Given the description of an element on the screen output the (x, y) to click on. 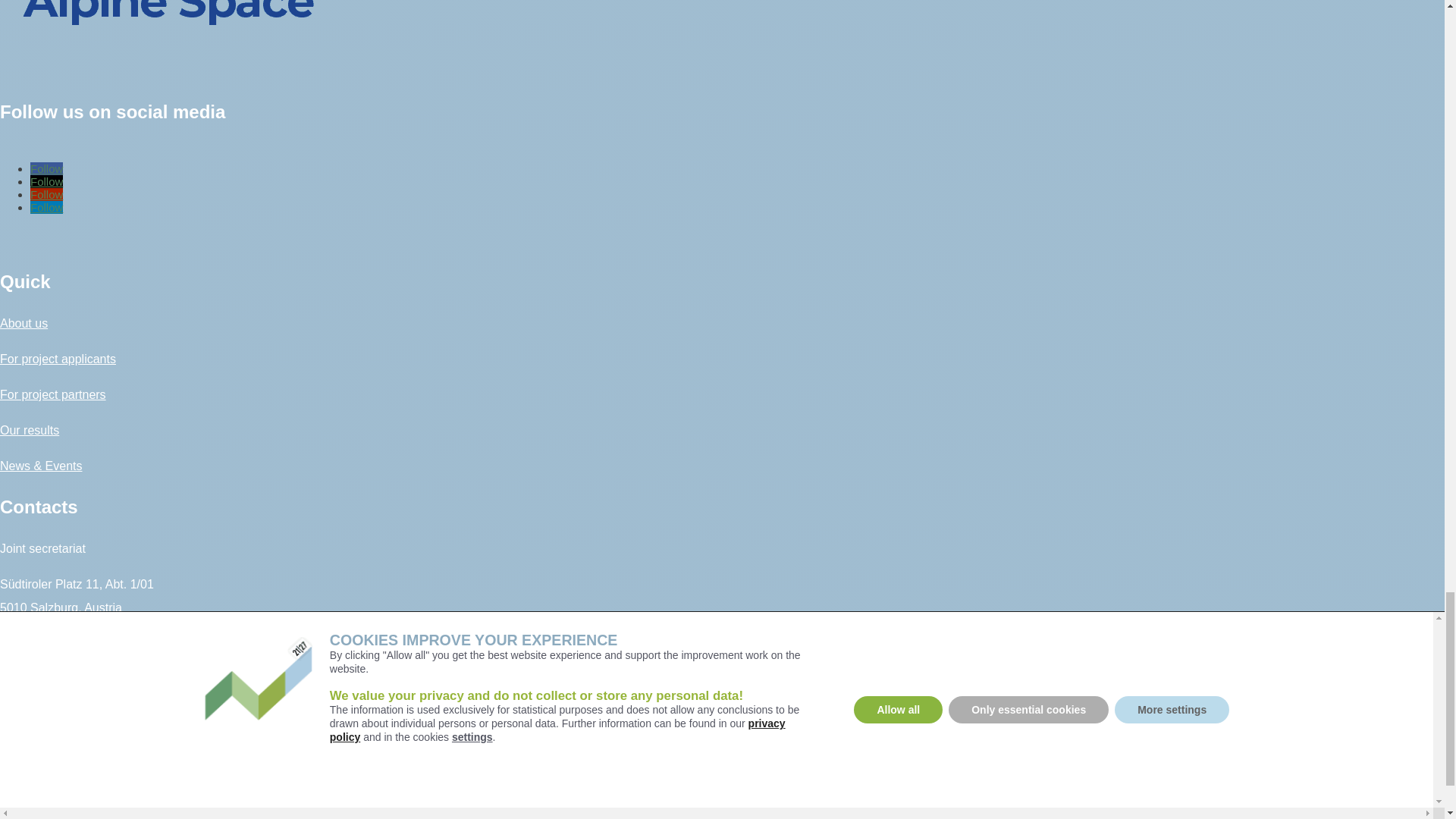
Follow on X (46, 181)
Follow on Facebook (46, 168)
Follow on Youtube (46, 194)
Follow on LinkedIn (46, 206)
